Given the description of an element on the screen output the (x, y) to click on. 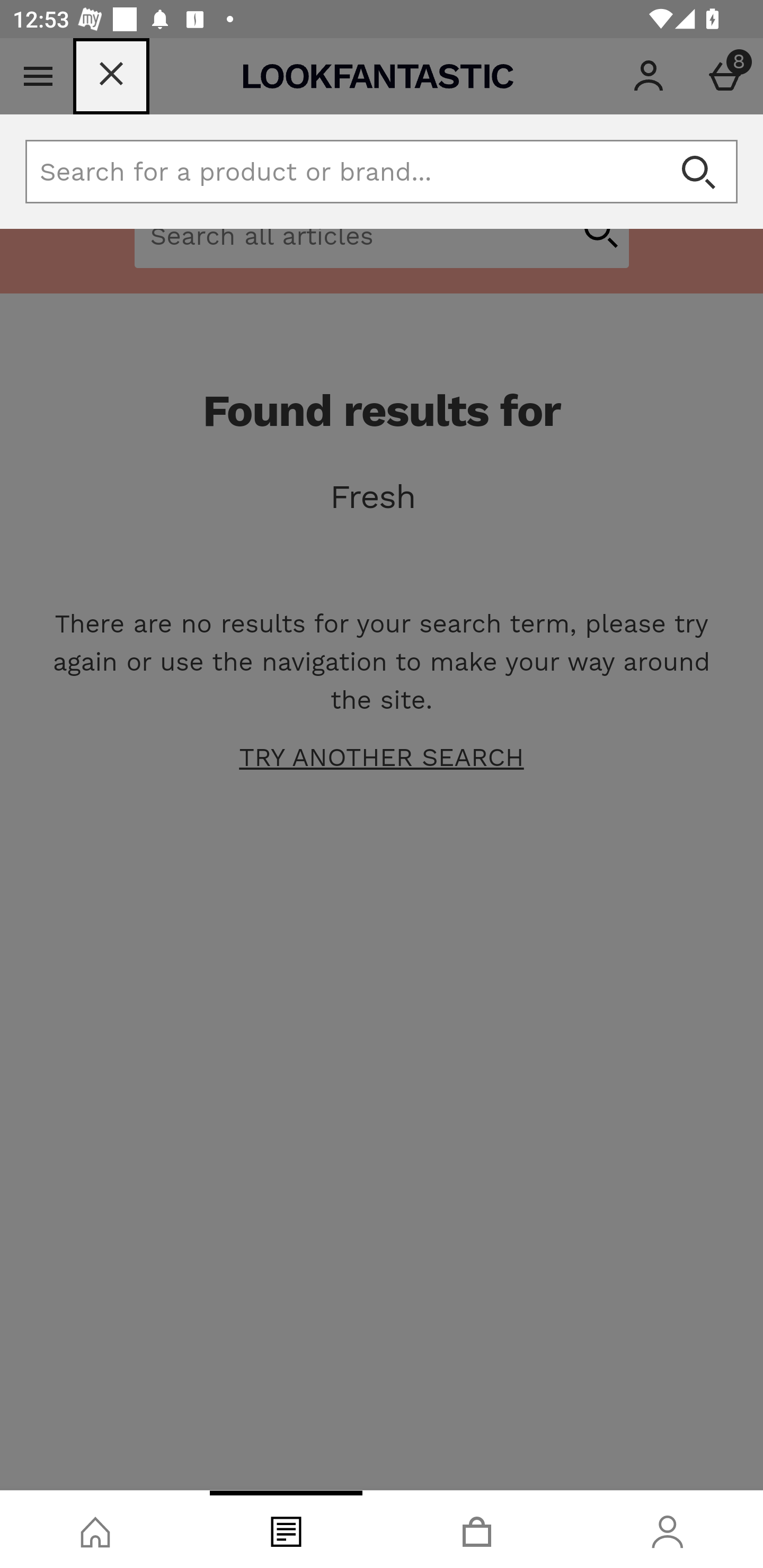
Close (111, 75)
Open search (697, 171)
Shop, tab, 1 of 4 (95, 1529)
Blog, tab, 2 of 4 (285, 1529)
Basket, tab, 3 of 4 (476, 1529)
Account, tab, 4 of 4 (667, 1529)
